Given the description of an element on the screen output the (x, y) to click on. 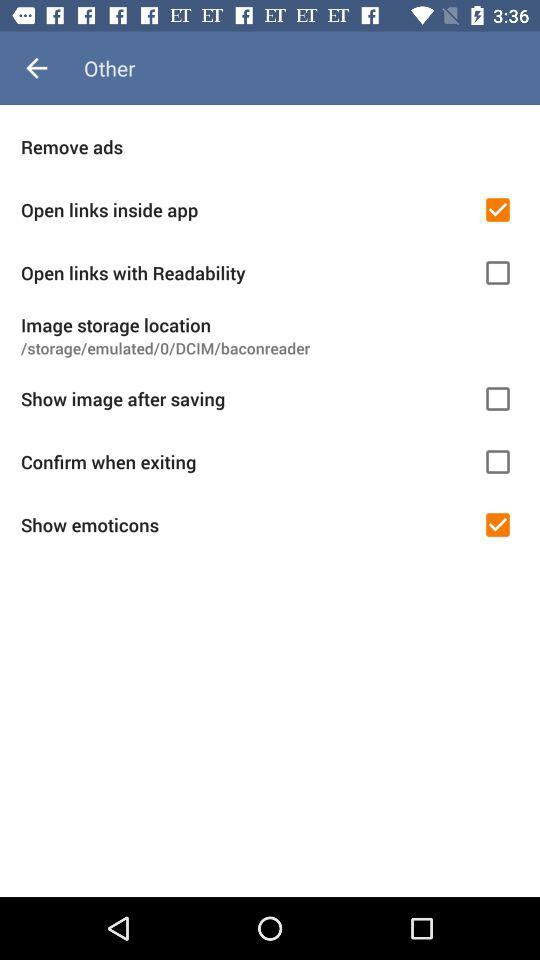
choose image storage location item (270, 324)
